Given the description of an element on the screen output the (x, y) to click on. 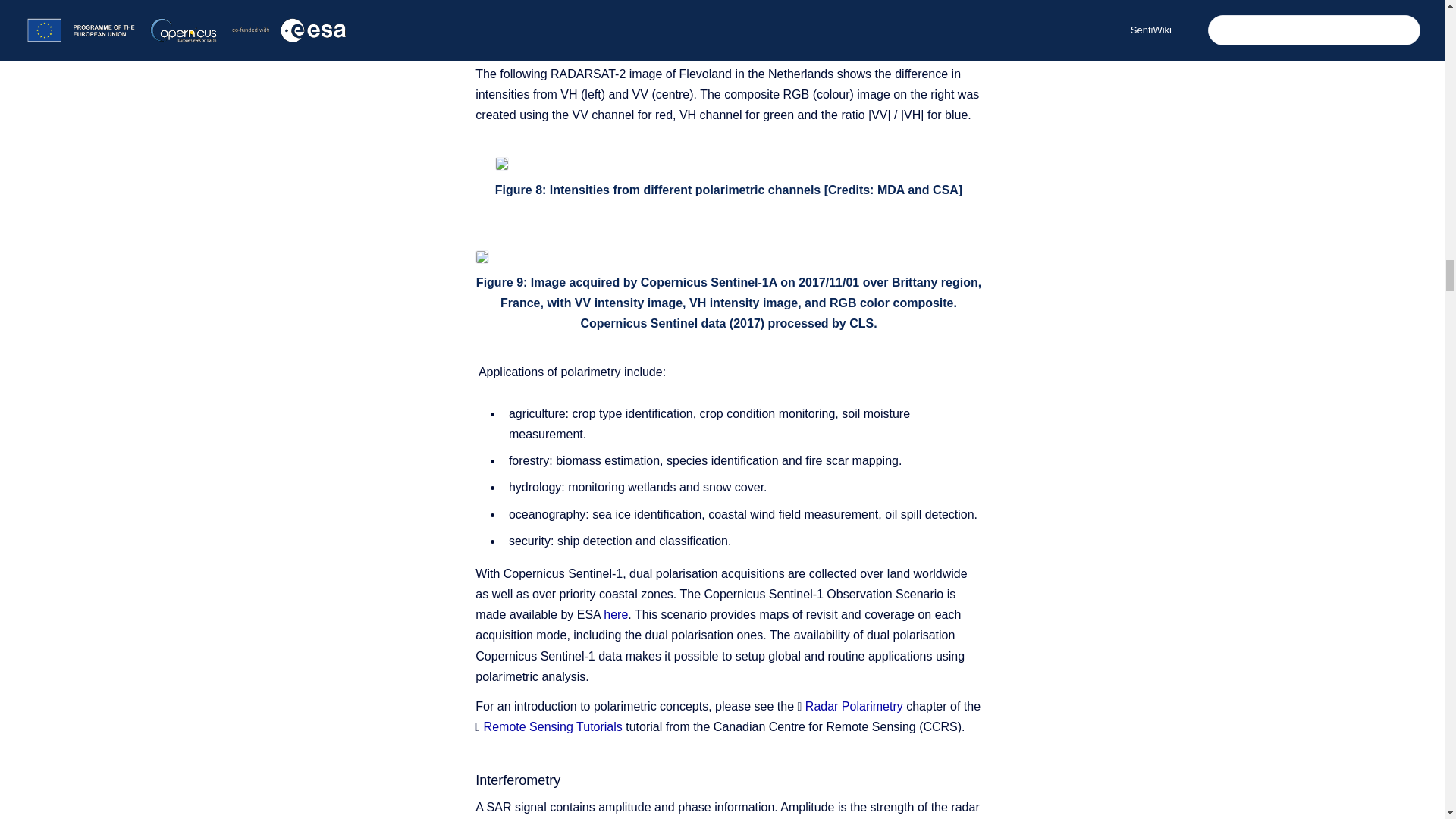
Radar Polarimetry (853, 706)
here (615, 614)
Remote Sensing Tutorials (553, 726)
